Given the description of an element on the screen output the (x, y) to click on. 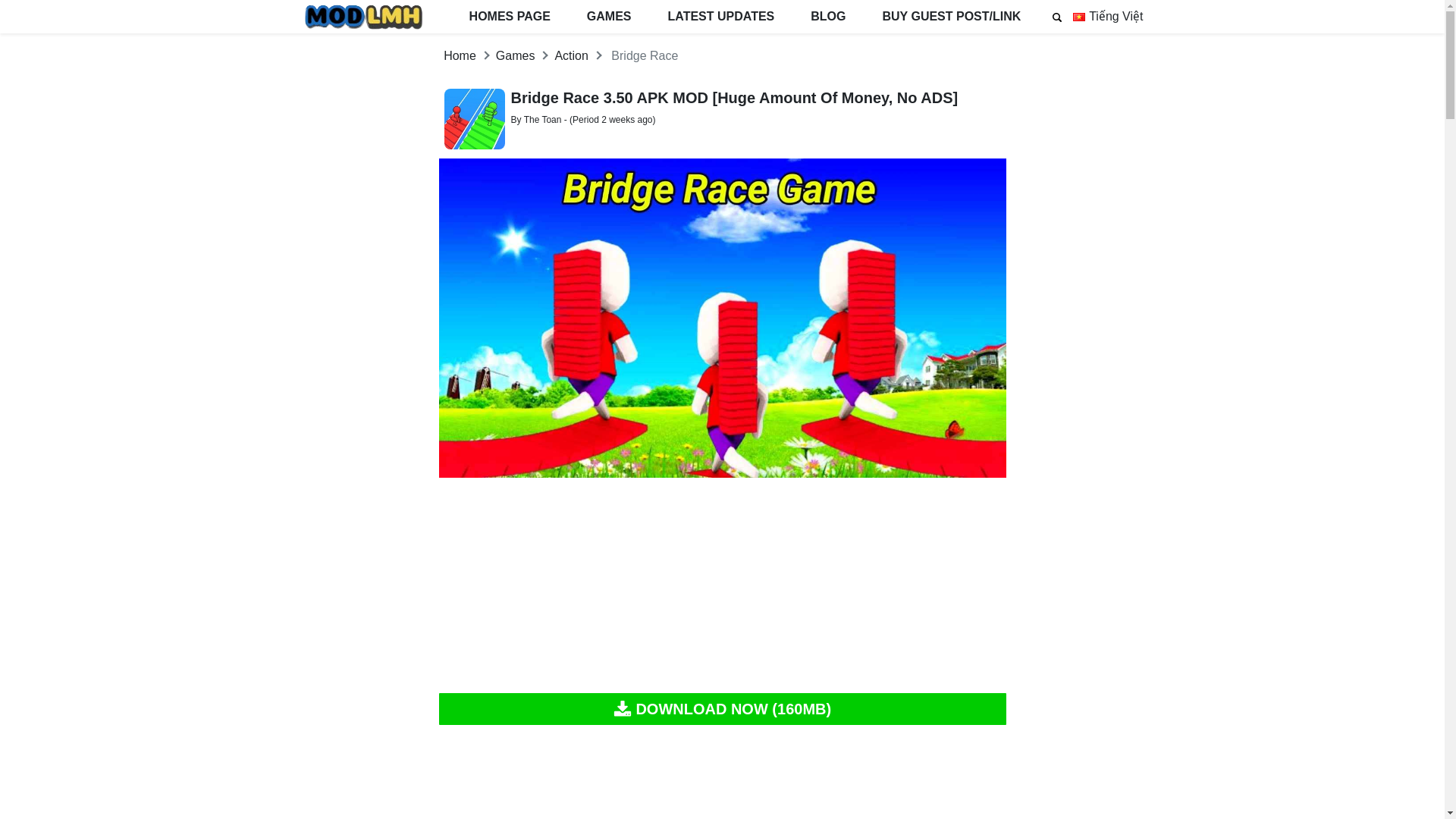
The Toan (543, 119)
LATEST UPDATES (721, 16)
BLOG (827, 16)
Home (460, 55)
HOMES PAGE (510, 16)
Games (515, 55)
Action (571, 55)
Advertisement (722, 778)
Advertisement (722, 586)
GAMES (609, 16)
Home (460, 55)
